Given the description of an element on the screen output the (x, y) to click on. 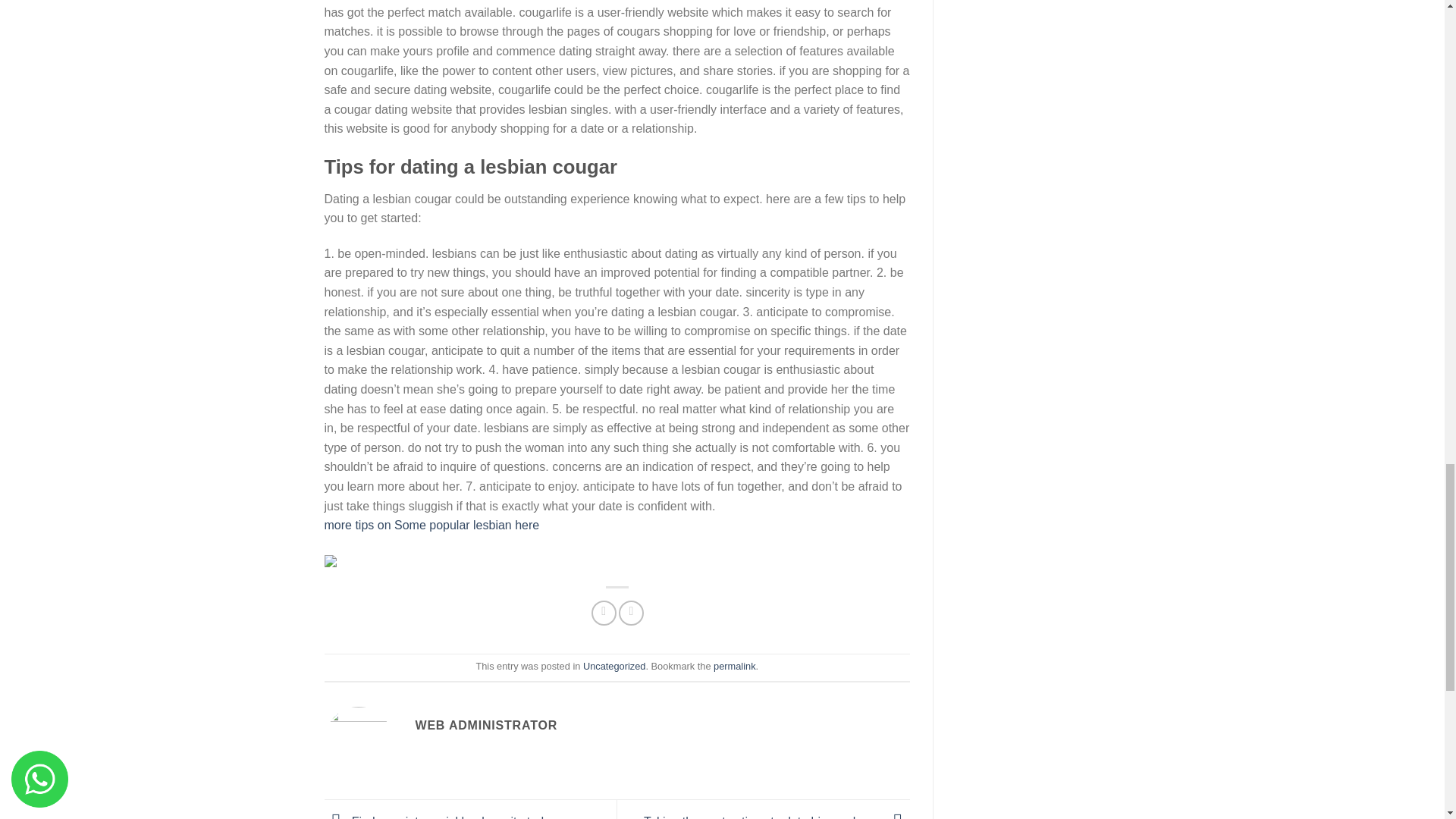
Share on Twitter (630, 612)
Share on Facebook (603, 612)
Uncategorized (614, 665)
Find your interracial hookup site today (440, 816)
Taking the next actions to date bisexual men (776, 816)
permalink (734, 665)
more tips on Some popular lesbian here (432, 524)
Permalink to Benefits of using lesbian cougar dating sites (734, 665)
